Given the description of an element on the screen output the (x, y) to click on. 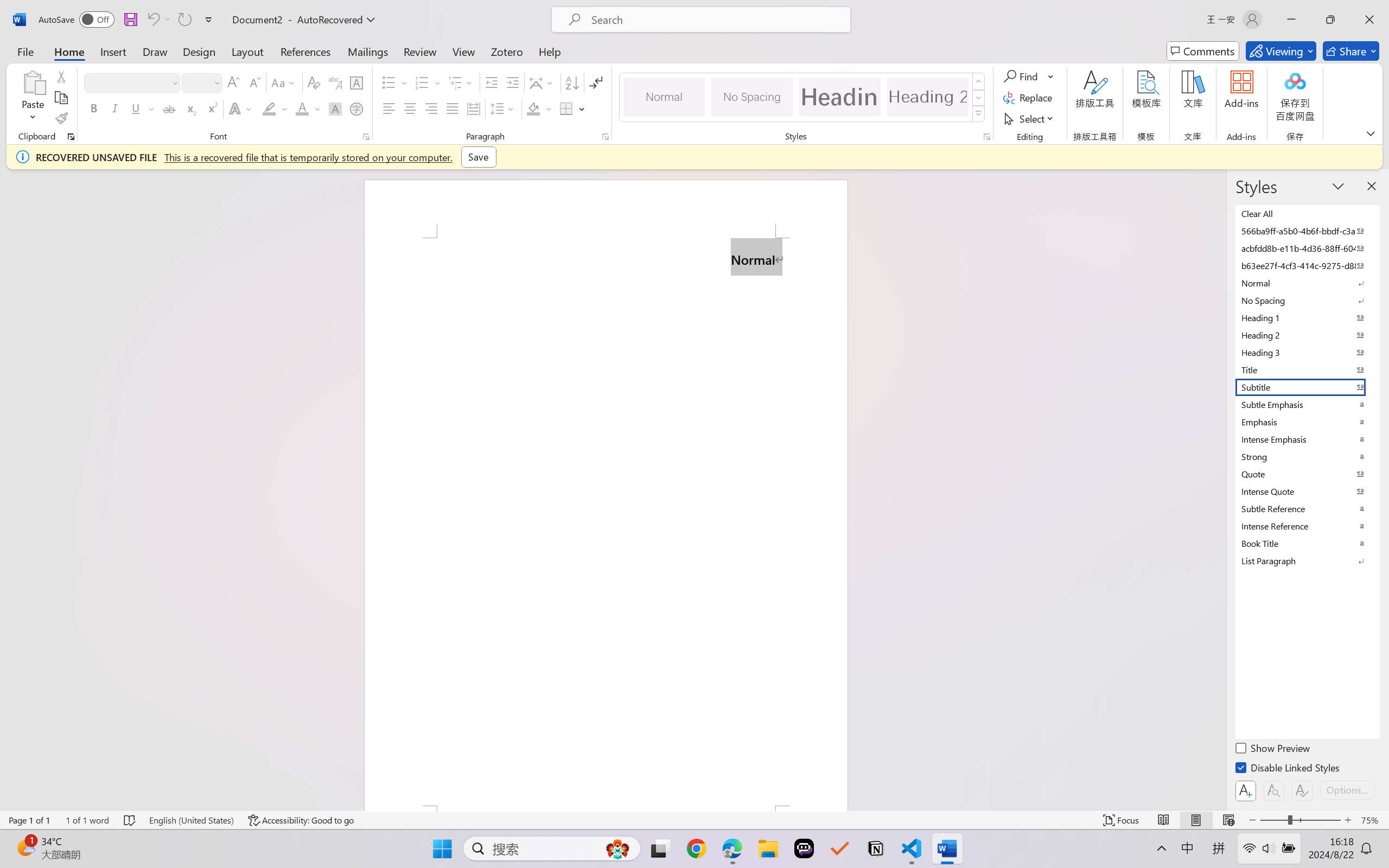
Can't Undo (152, 19)
Quote (1306, 473)
Enclose Characters... (356, 108)
Decrease Indent (491, 82)
Show/Hide Editing Marks (595, 82)
Subtle Reference (1306, 508)
Align Right (431, 108)
